Given the description of an element on the screen output the (x, y) to click on. 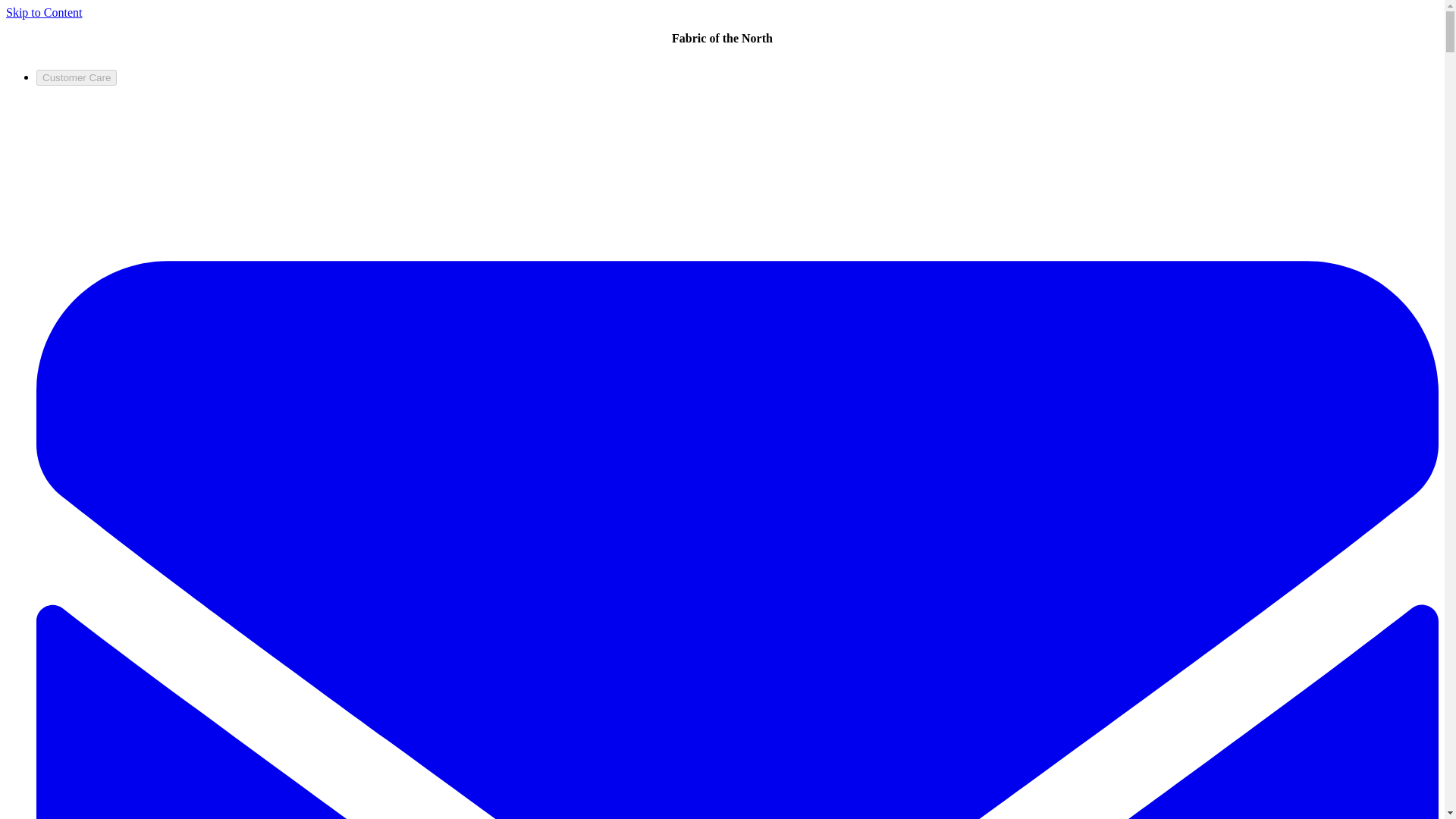
Customer Care (76, 77)
Skip to Content (43, 11)
